Given the description of an element on the screen output the (x, y) to click on. 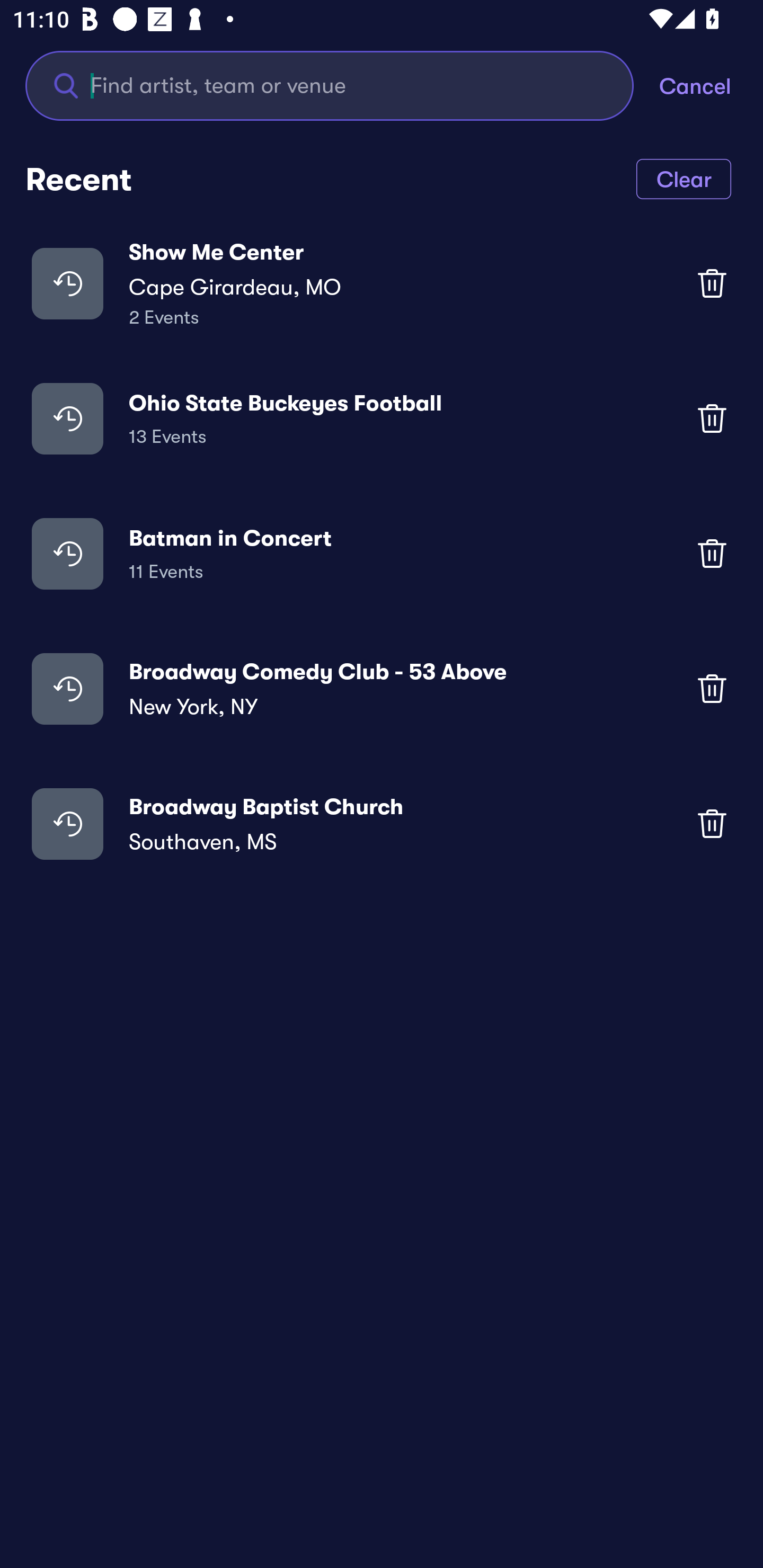
Cancel (711, 85)
Find artist, team or venue Find (329, 85)
Find artist, team or venue Find (341, 85)
Clear (683, 178)
Show Me Center Cape Girardeau, MO 2 Events (381, 282)
Ohio State Buckeyes Football 13 Events (381, 417)
Batman in Concert 11 Events (381, 553)
Broadway Comedy Club - 53 Above New York, NY (381, 688)
Broadway Baptist Church Southaven, MS (381, 823)
